Given the description of an element on the screen output the (x, y) to click on. 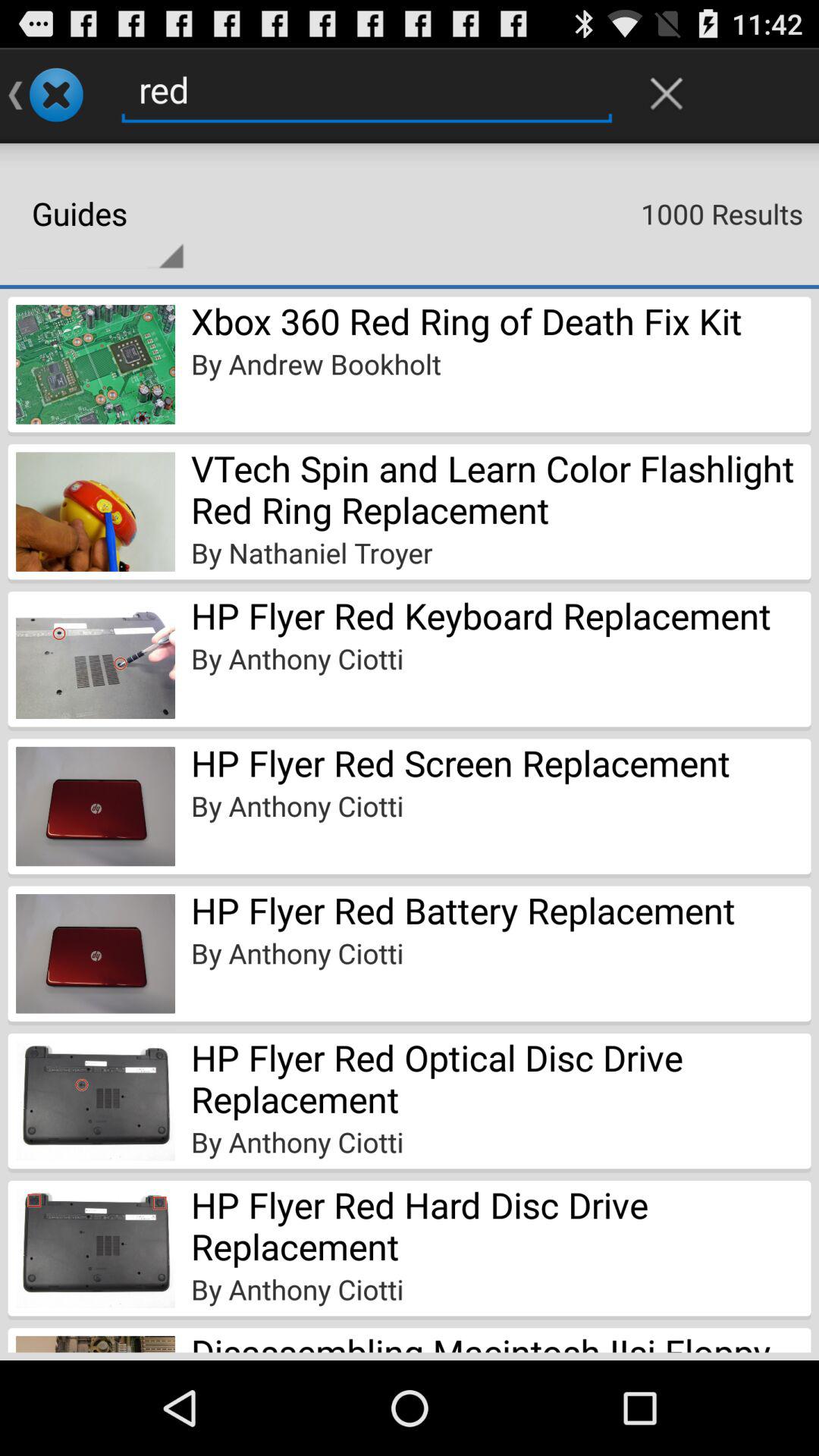
select the xbox 360 red (466, 320)
